Given the description of an element on the screen output the (x, y) to click on. 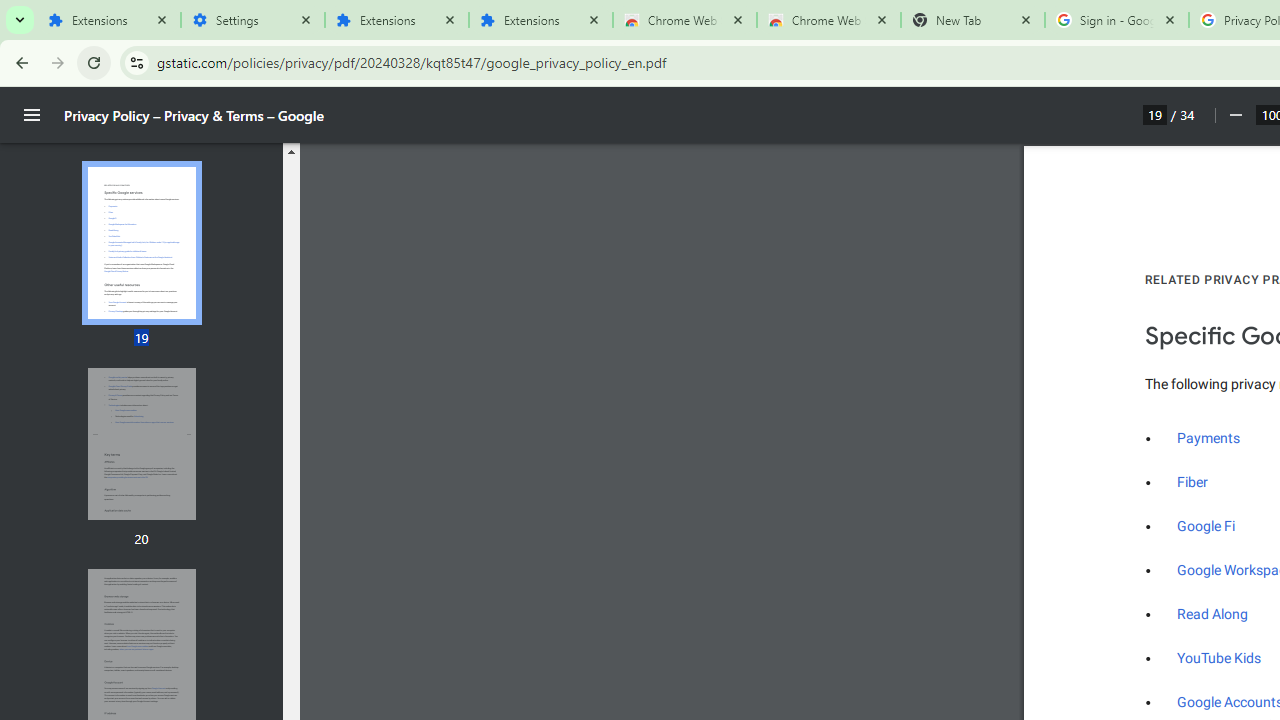
Chrome Web Store - Themes (1206, 525)
AutomationID: thumbnail (828, 20)
Extensions (141, 443)
Thumbnail for page 20 (540, 20)
Settings (141, 444)
Payments (252, 20)
Page number (1209, 438)
New Tab (1213, 614)
